Given the description of an element on the screen output the (x, y) to click on. 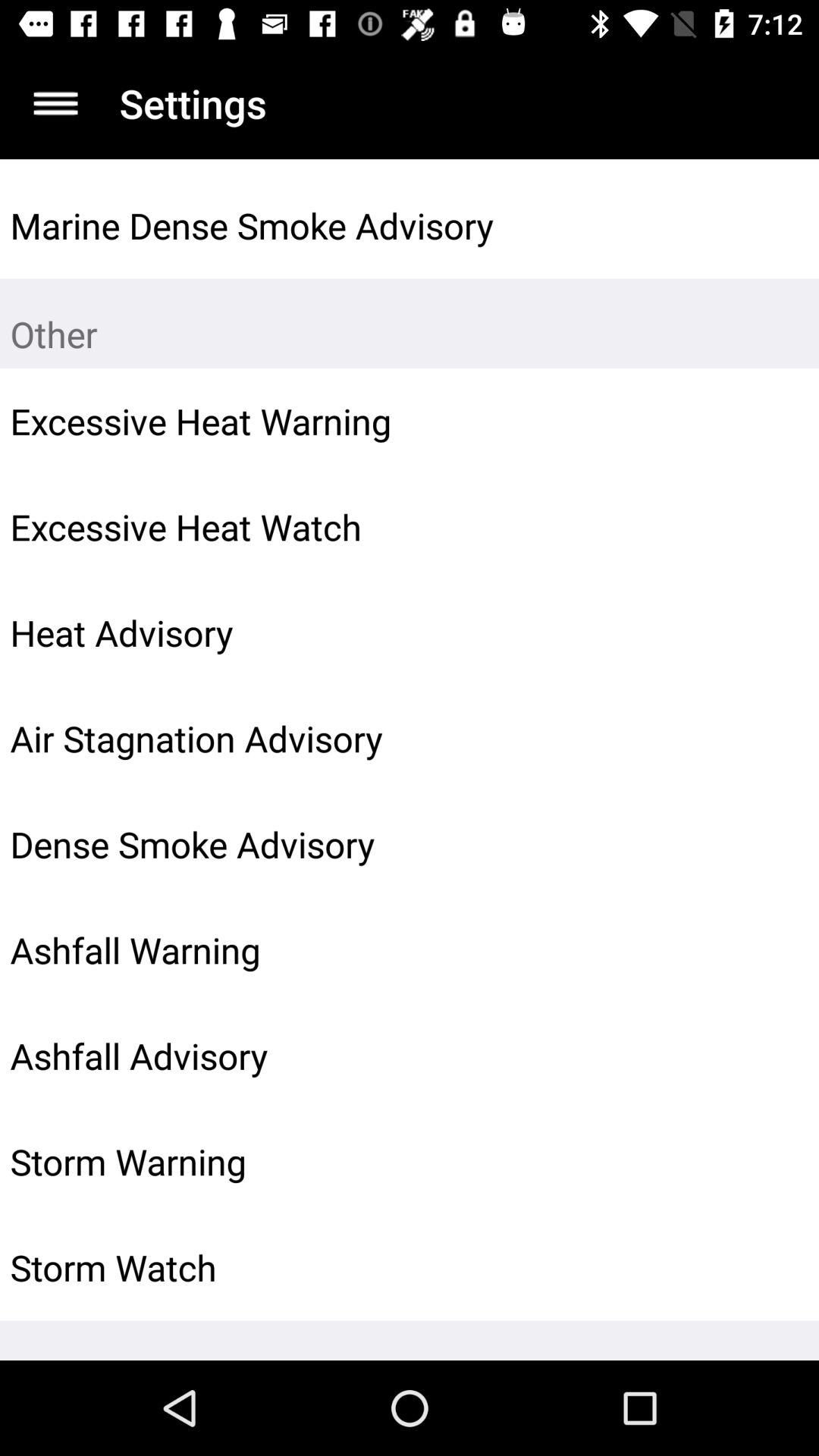
turn on the icon next to marine dense smoke item (771, 225)
